Given the description of an element on the screen output the (x, y) to click on. 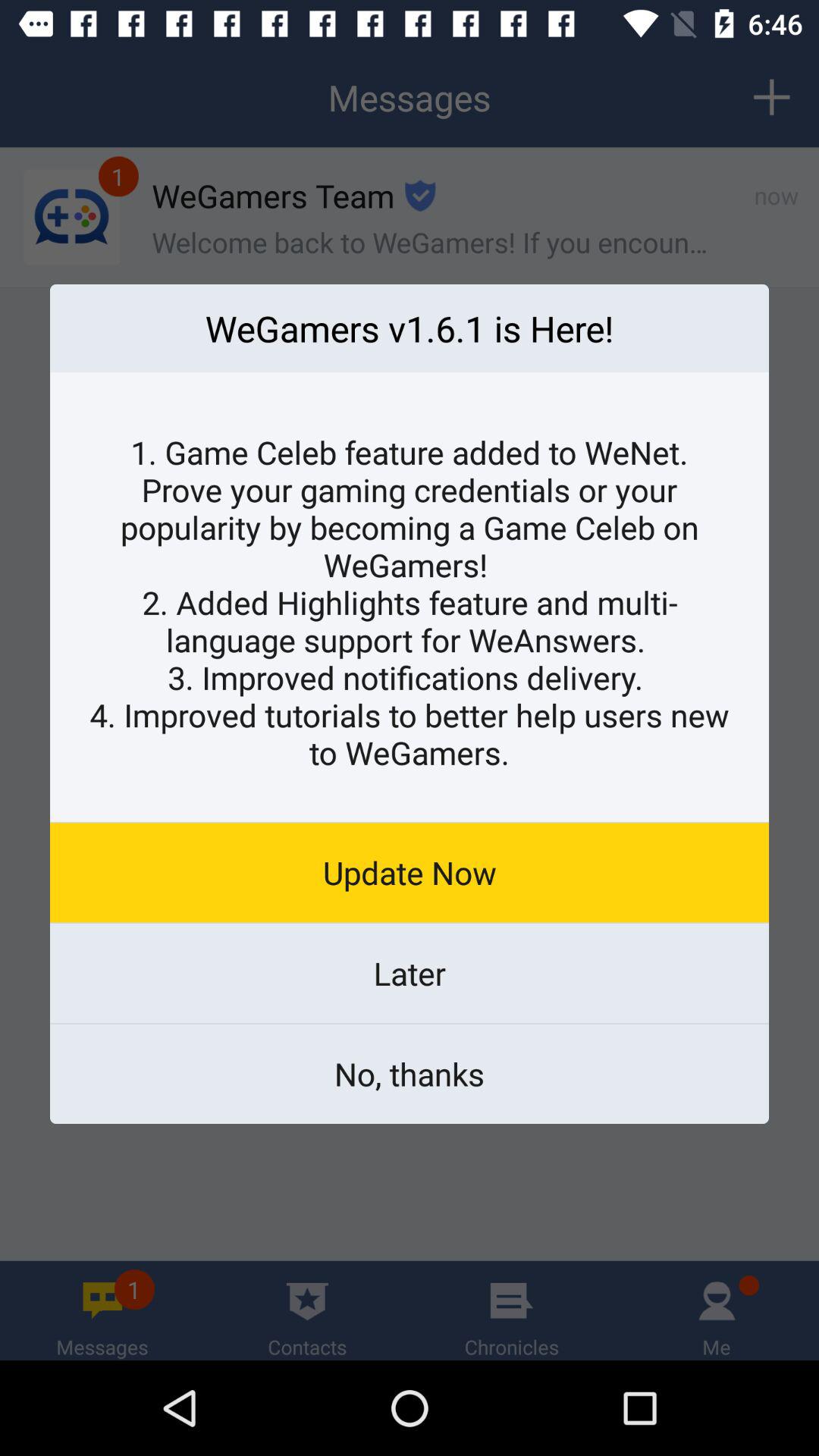
jump until no, thanks app (409, 1073)
